Given the description of an element on the screen output the (x, y) to click on. 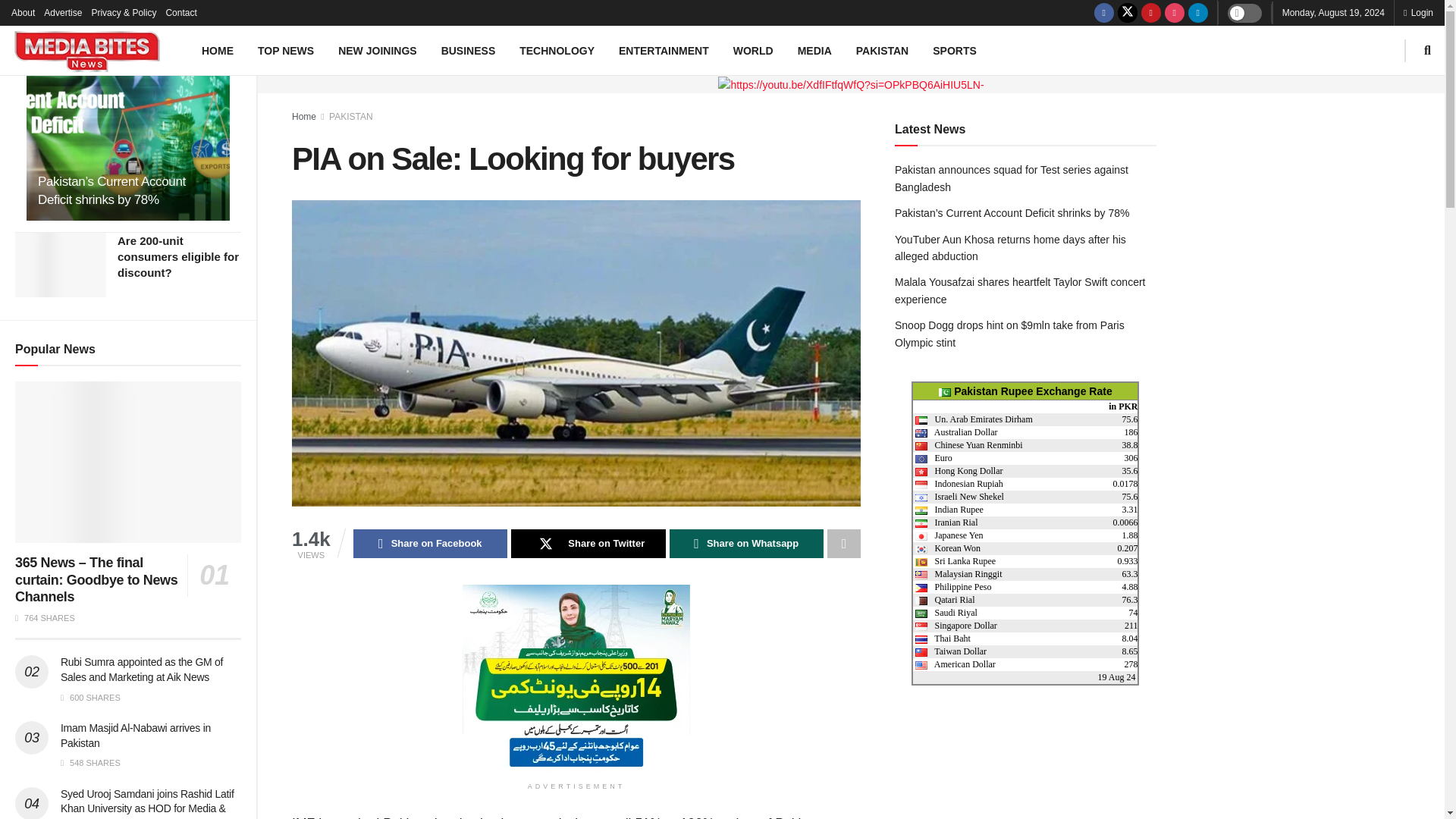
Are 200-unit consumers eligible for discount? (177, 256)
Imam Masjid Al-Nabawi arrives in Pakistan (136, 735)
